Given the description of an element on the screen output the (x, y) to click on. 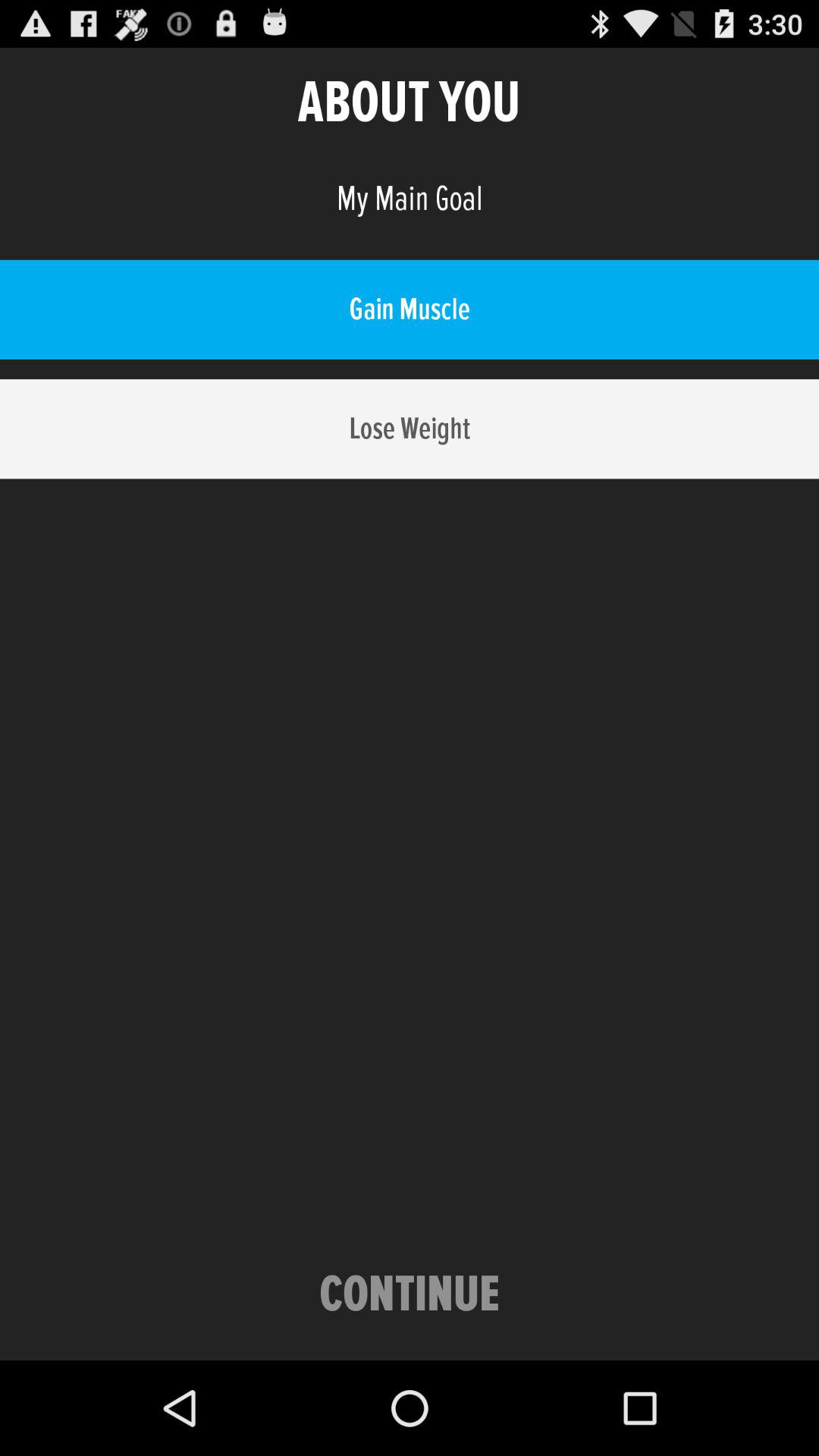
turn off the continue (409, 1295)
